Given the description of an element on the screen output the (x, y) to click on. 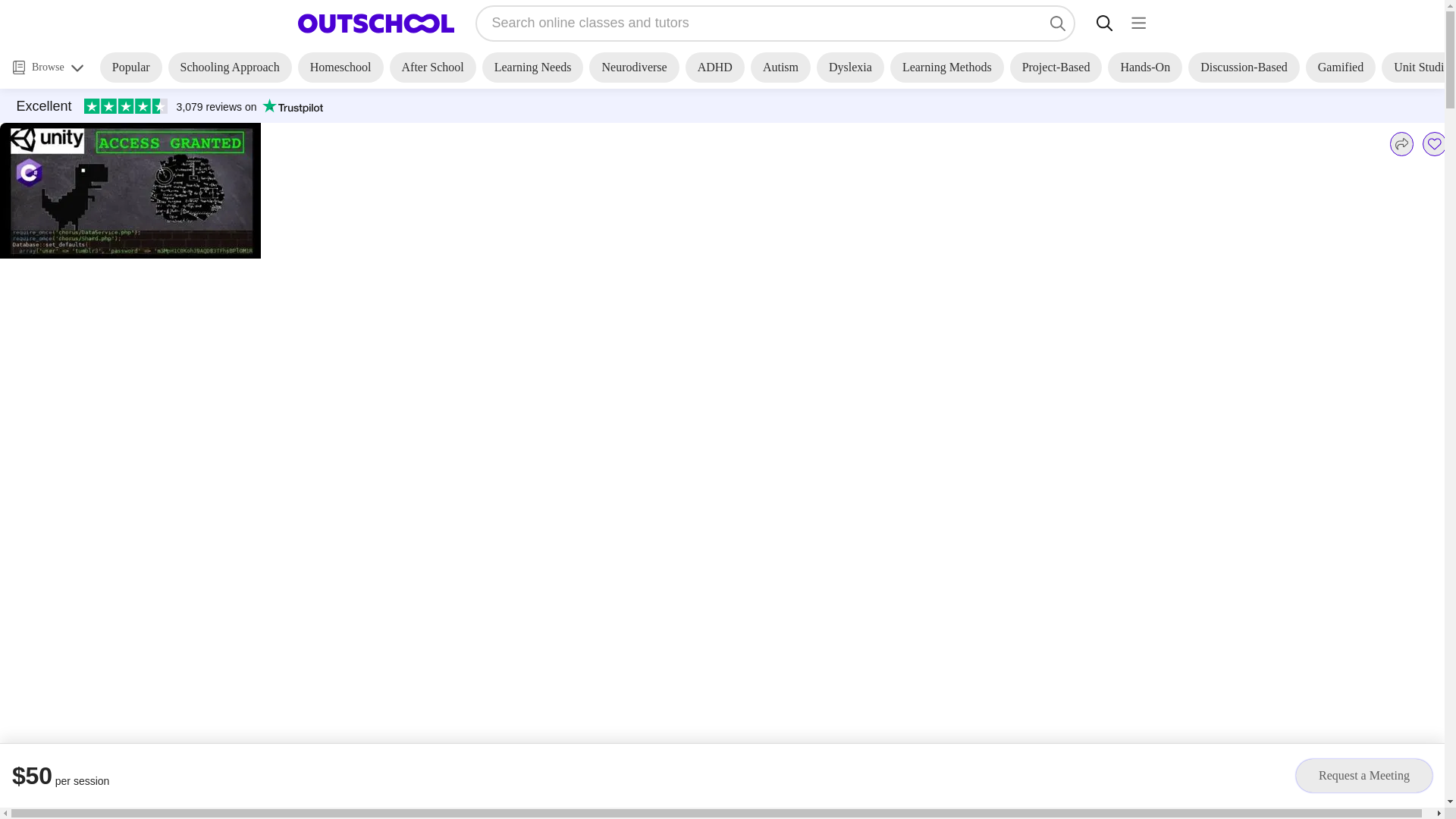
Popular (130, 67)
Learning Needs (532, 67)
Schooling Approach (230, 67)
Gamified (1340, 67)
Homeschool (341, 67)
Discussion-Based (1244, 67)
Learning Methods (946, 67)
Trustpilot reviews (169, 106)
Project-Based (1056, 67)
After School (433, 67)
Neurodiverse (633, 67)
ADHD (714, 67)
Dyslexia (849, 67)
Hands-On (1145, 67)
Autism (780, 67)
